Given the description of an element on the screen output the (x, y) to click on. 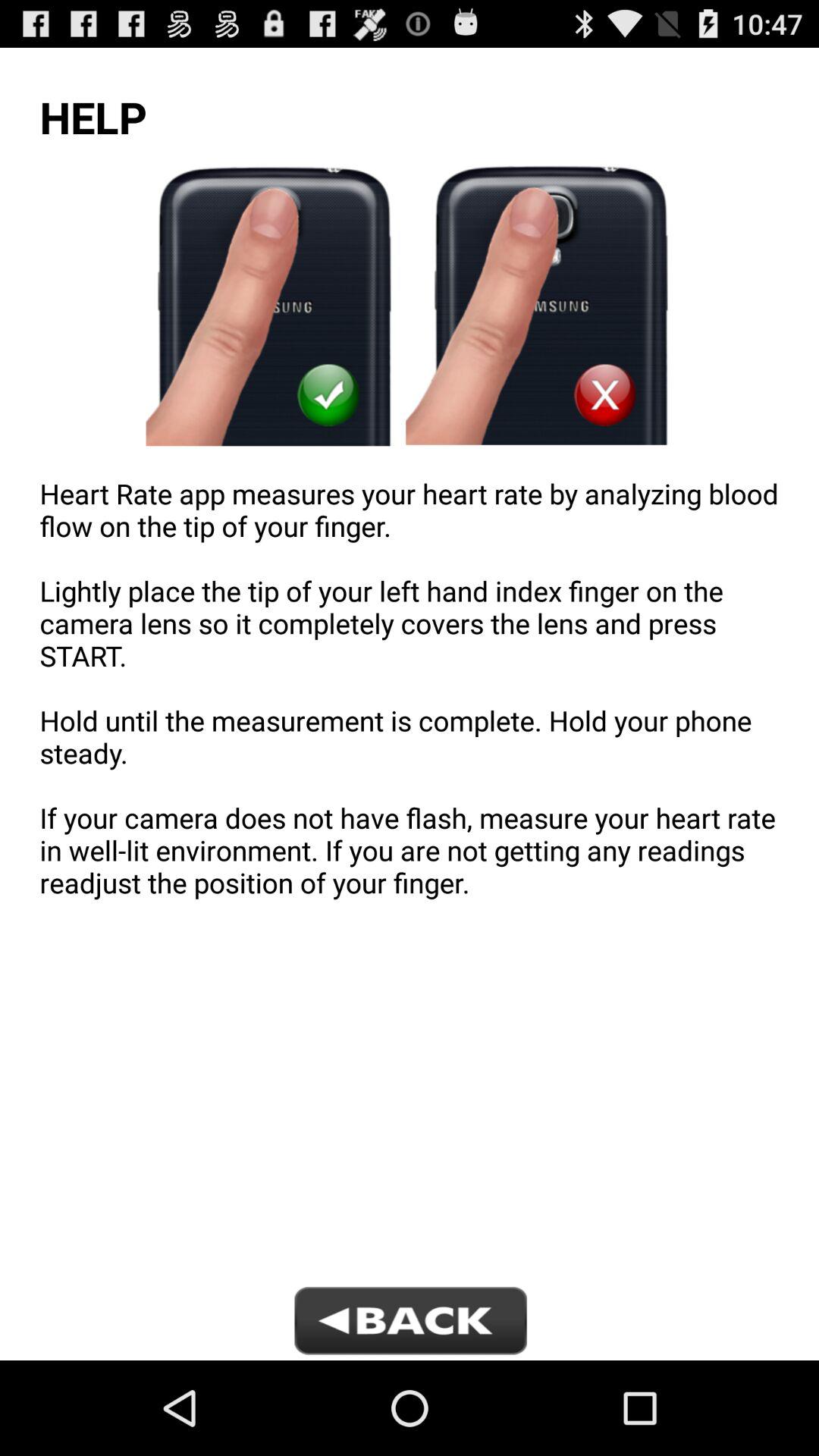
select the item at the bottom (409, 1323)
